Given the description of an element on the screen output the (x, y) to click on. 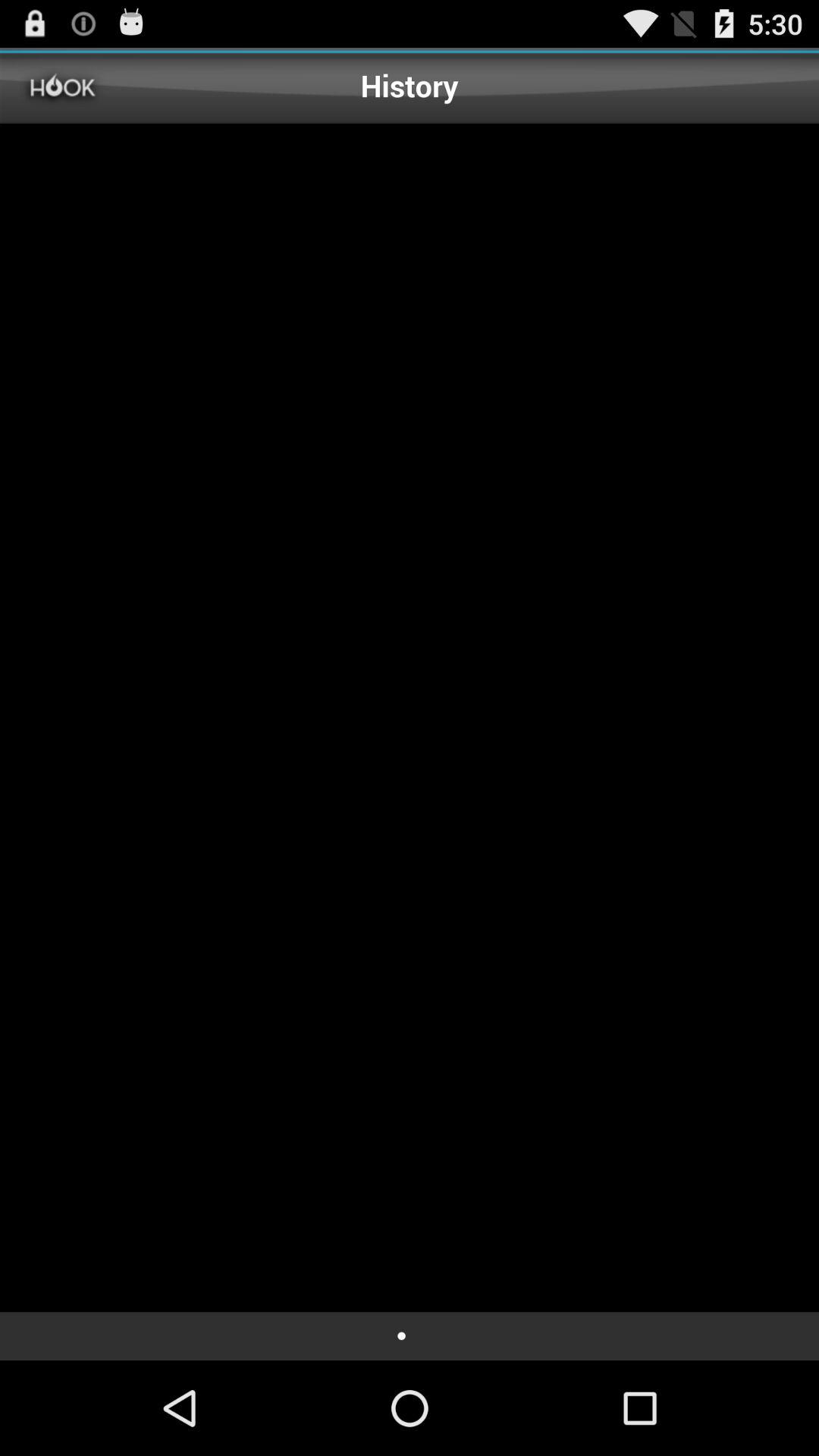
click icon at the center (409, 717)
